Given the description of an element on the screen output the (x, y) to click on. 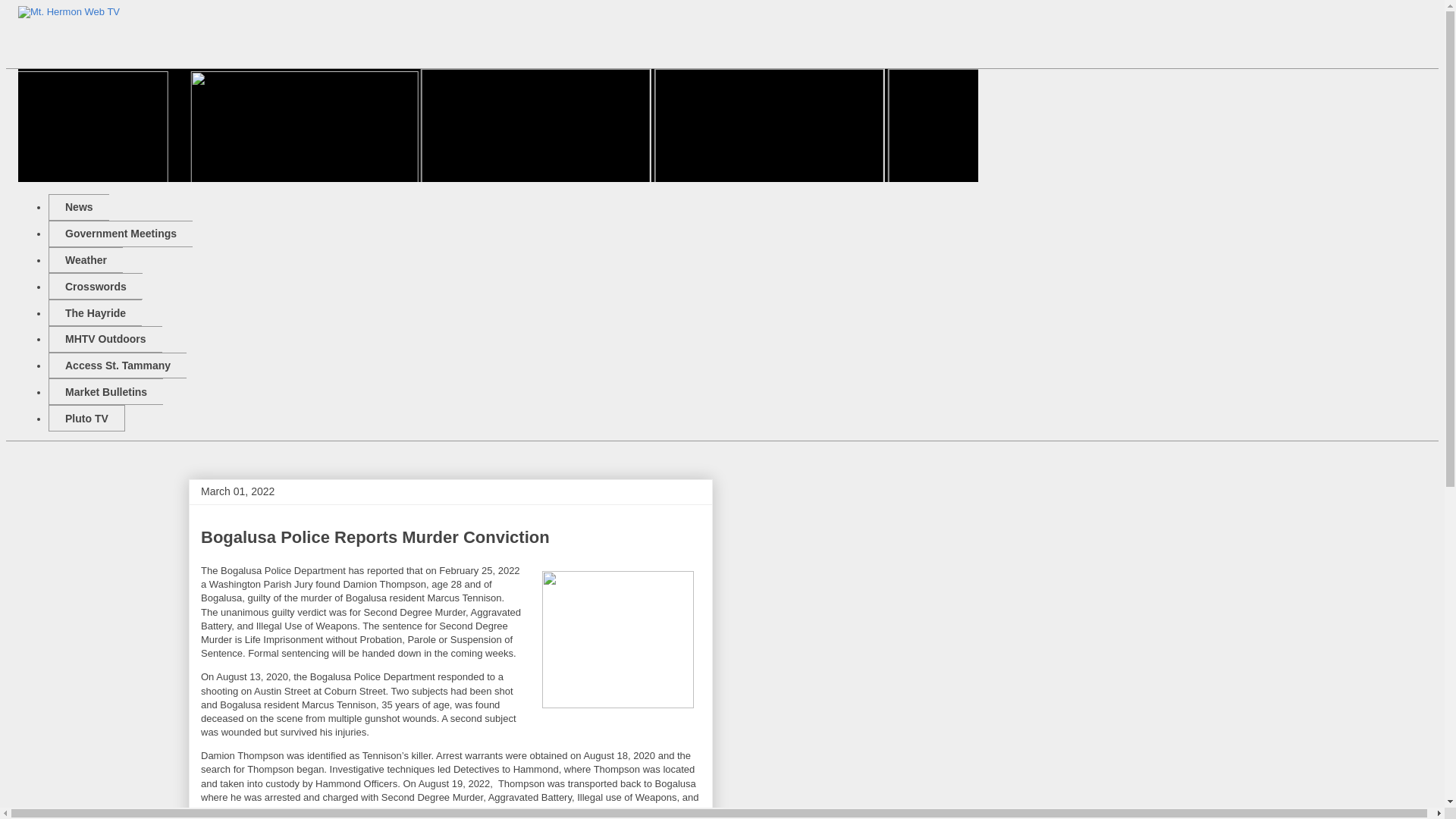
MHTV Outdoors (104, 338)
Market Bulletins (105, 391)
Crosswords (95, 285)
Government Meetings (120, 233)
News (78, 207)
Weather (85, 260)
The Hayride (94, 312)
Pluto TV (86, 417)
Access St. Tammany (117, 365)
